Given the description of an element on the screen output the (x, y) to click on. 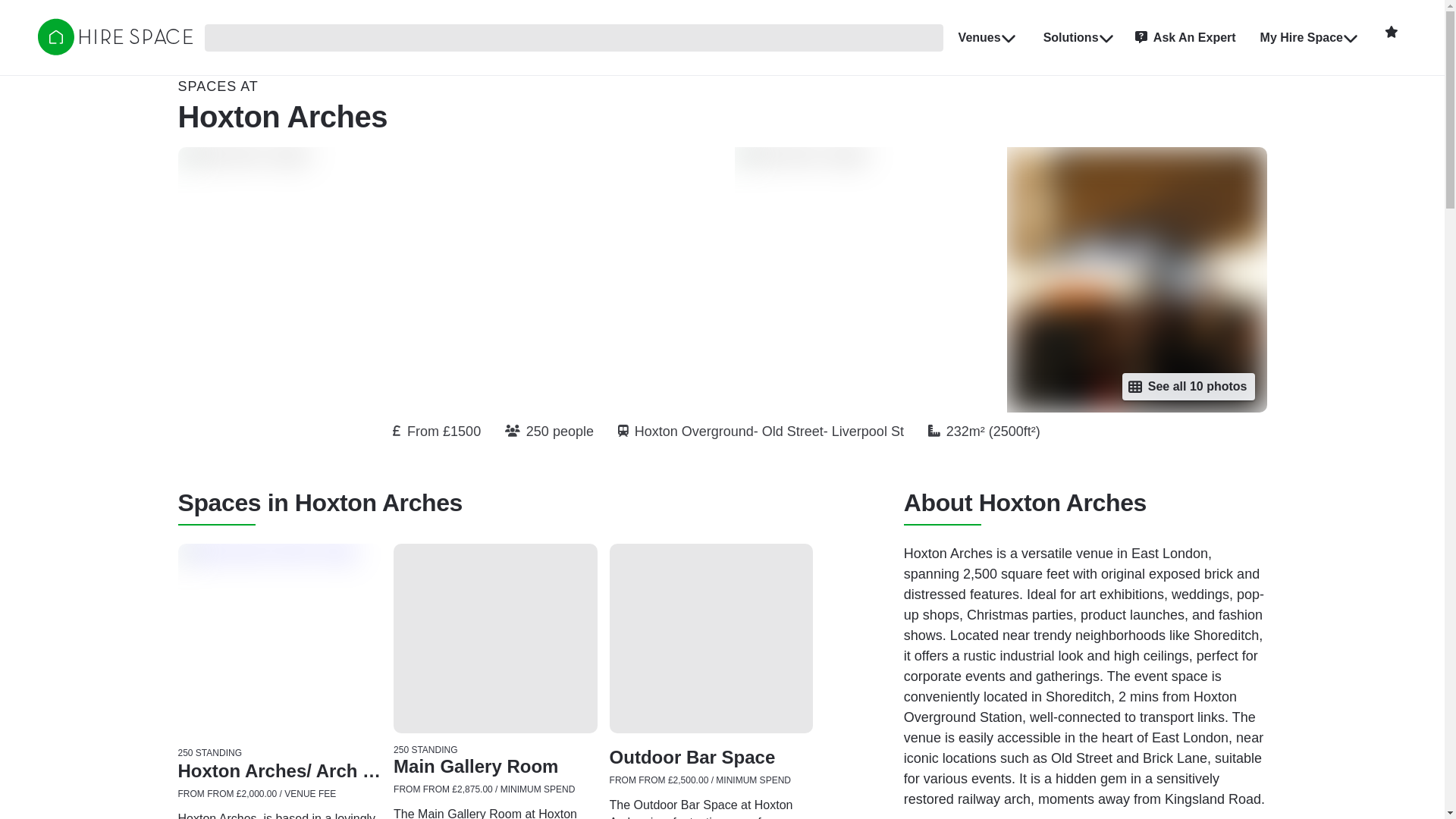
See all 10 photos (1188, 386)
  Ask An Expert (1184, 37)
My Hire Space (1307, 37)
Hire Space (114, 36)
Solutions (1076, 37)
Venues (985, 37)
Hire Space (114, 50)
